Given the description of an element on the screen output the (x, y) to click on. 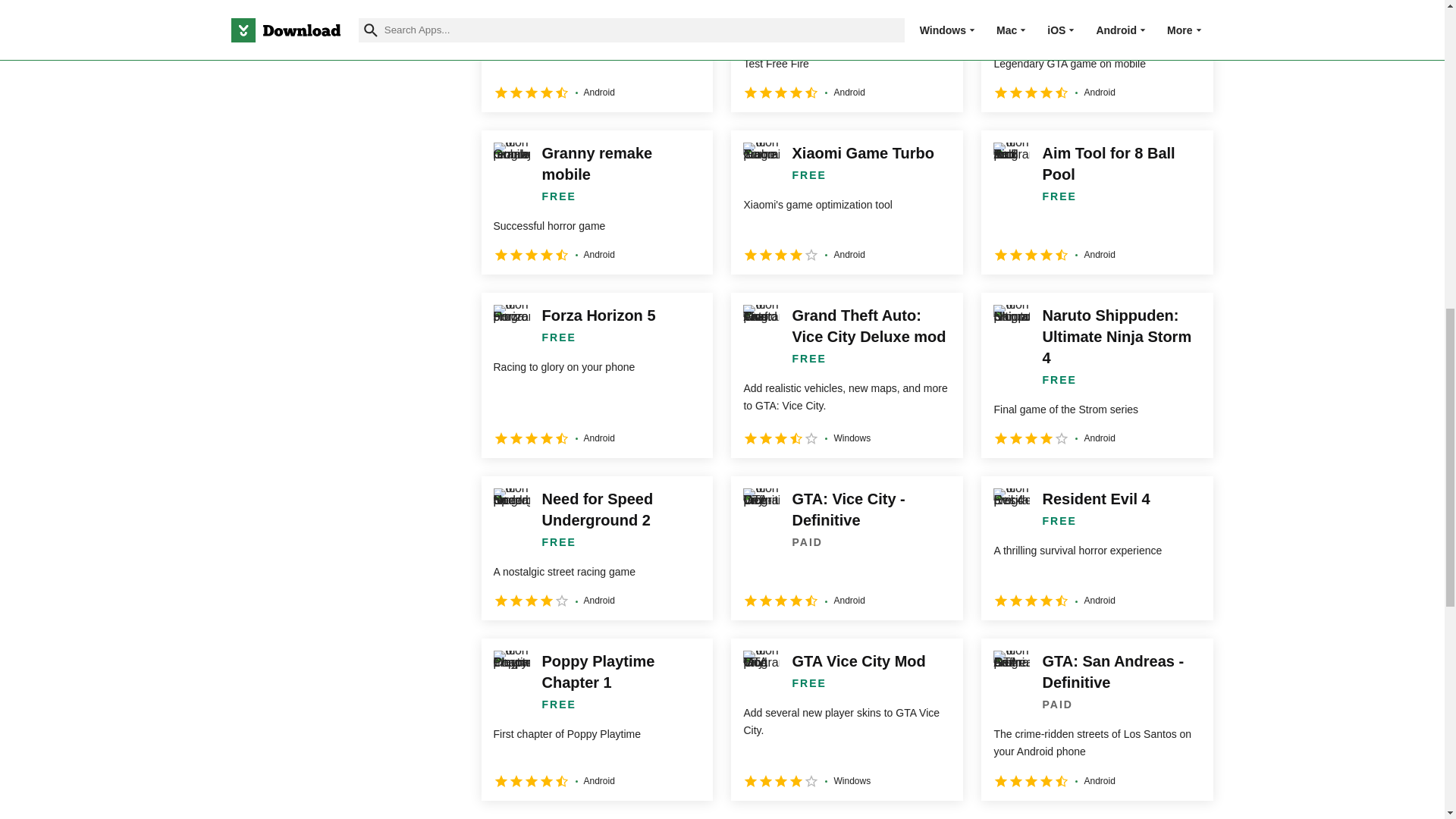
Xiaomi Game Turbo (846, 202)
Forza Horizon 5 (596, 374)
GTA: Vice City - Definitive (846, 547)
games-sudoku-crossword (239, 94)
Predictor Aviator (596, 56)
Grand Theft Auto: Vice City Deluxe mod (846, 374)
games-sports (239, 21)
Granny remake mobile (596, 202)
Naruto Shippuden: Ultimate Ninja Storm 4 (1096, 374)
Need for Speed Underground 2 (596, 547)
